Given the description of an element on the screen output the (x, y) to click on. 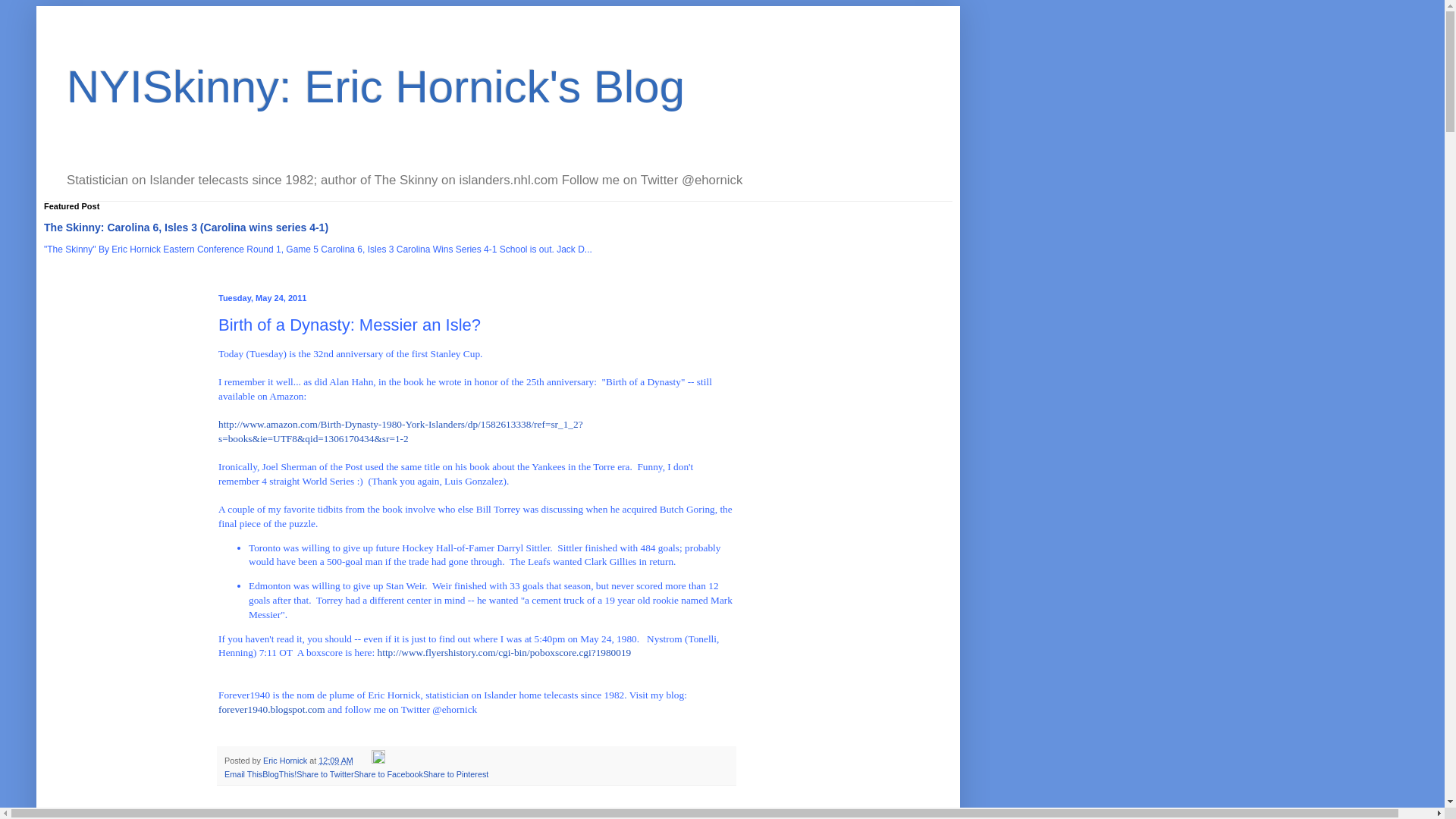
Edit Post (378, 759)
Share to Facebook (388, 773)
12:09 AM (335, 759)
Email Post (363, 759)
Share to Twitter (325, 773)
forever1940.blogspot.com (271, 708)
Email This (243, 773)
author profile (285, 759)
BlogThis! (279, 773)
Share to Facebook (388, 773)
Eric Hornick (285, 759)
Email This (243, 773)
permanent link (335, 759)
Share to Twitter (325, 773)
Share to Pinterest (455, 773)
